Given the description of an element on the screen output the (x, y) to click on. 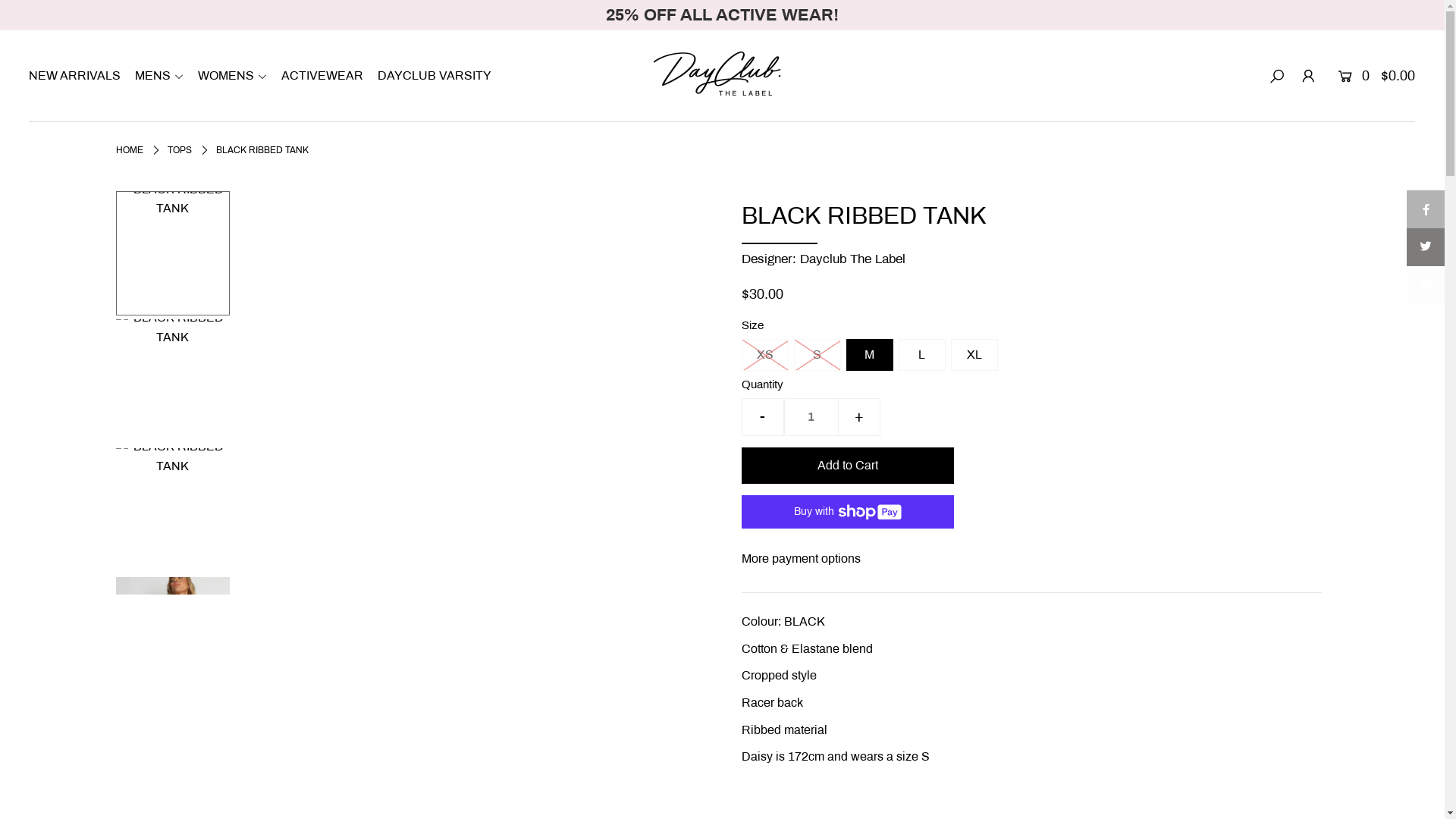
WOMENS Element type: text (237, 75)
TOPS Element type: text (178, 149)
- Element type: text (762, 417)
Share on Twitter Element type: hover (1425, 247)
NEW ARRIVALS Element type: text (79, 75)
Add to Cart Element type: text (847, 465)
  0  $0.00 Element type: text (1373, 75)
MENS Element type: text (164, 75)
DAYCLUB VARSITY Element type: text (439, 75)
+ Element type: text (858, 417)
More payment options Element type: text (1031, 558)
HOME Element type: text (128, 149)
Share on Facebook Element type: hover (1425, 209)
ACTIVEWEAR Element type: text (327, 75)
Share on Pinterest Element type: hover (1425, 285)
